Given the description of an element on the screen output the (x, y) to click on. 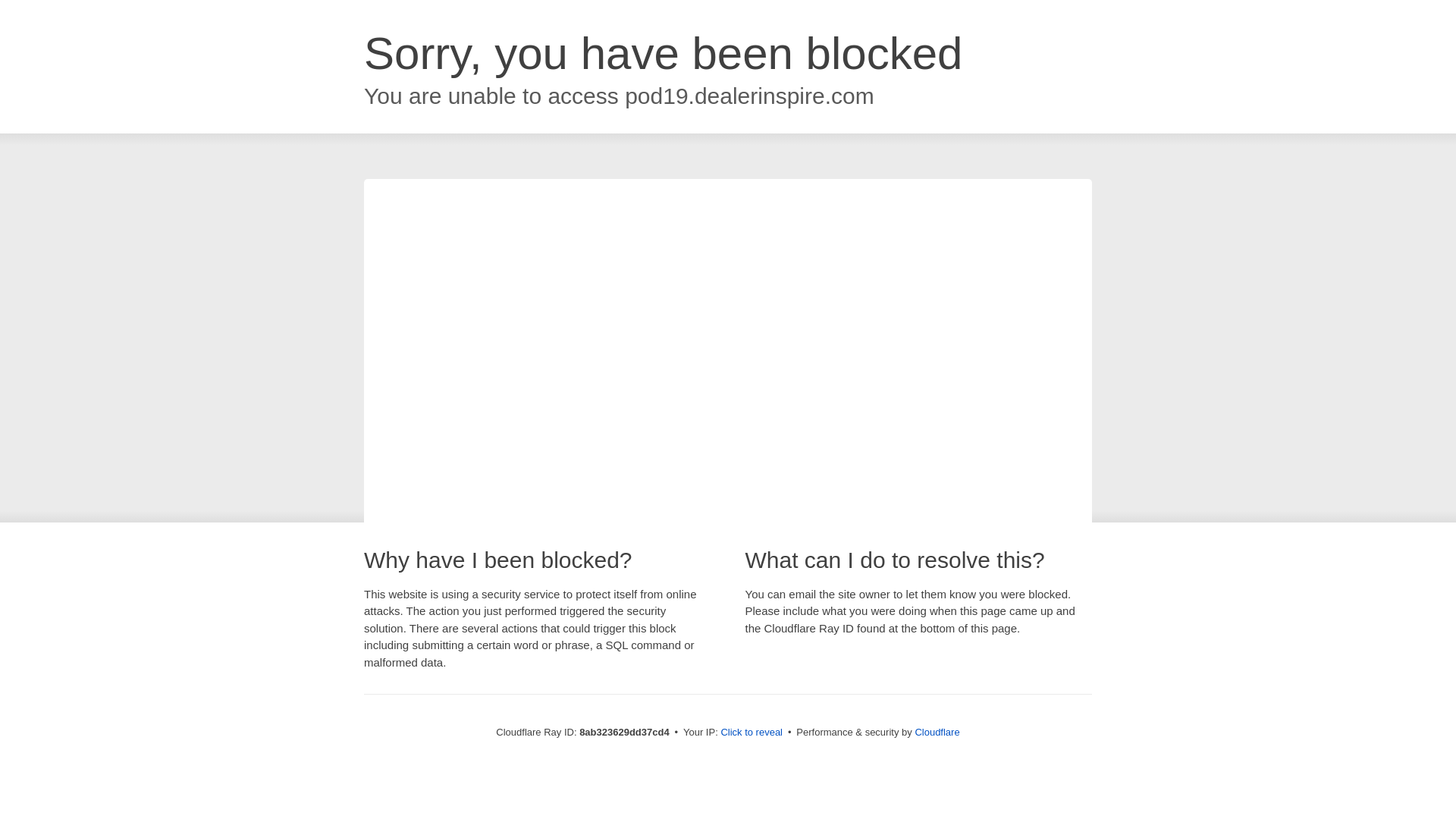
Click to reveal (751, 732)
Cloudflare (936, 731)
